Given the description of an element on the screen output the (x, y) to click on. 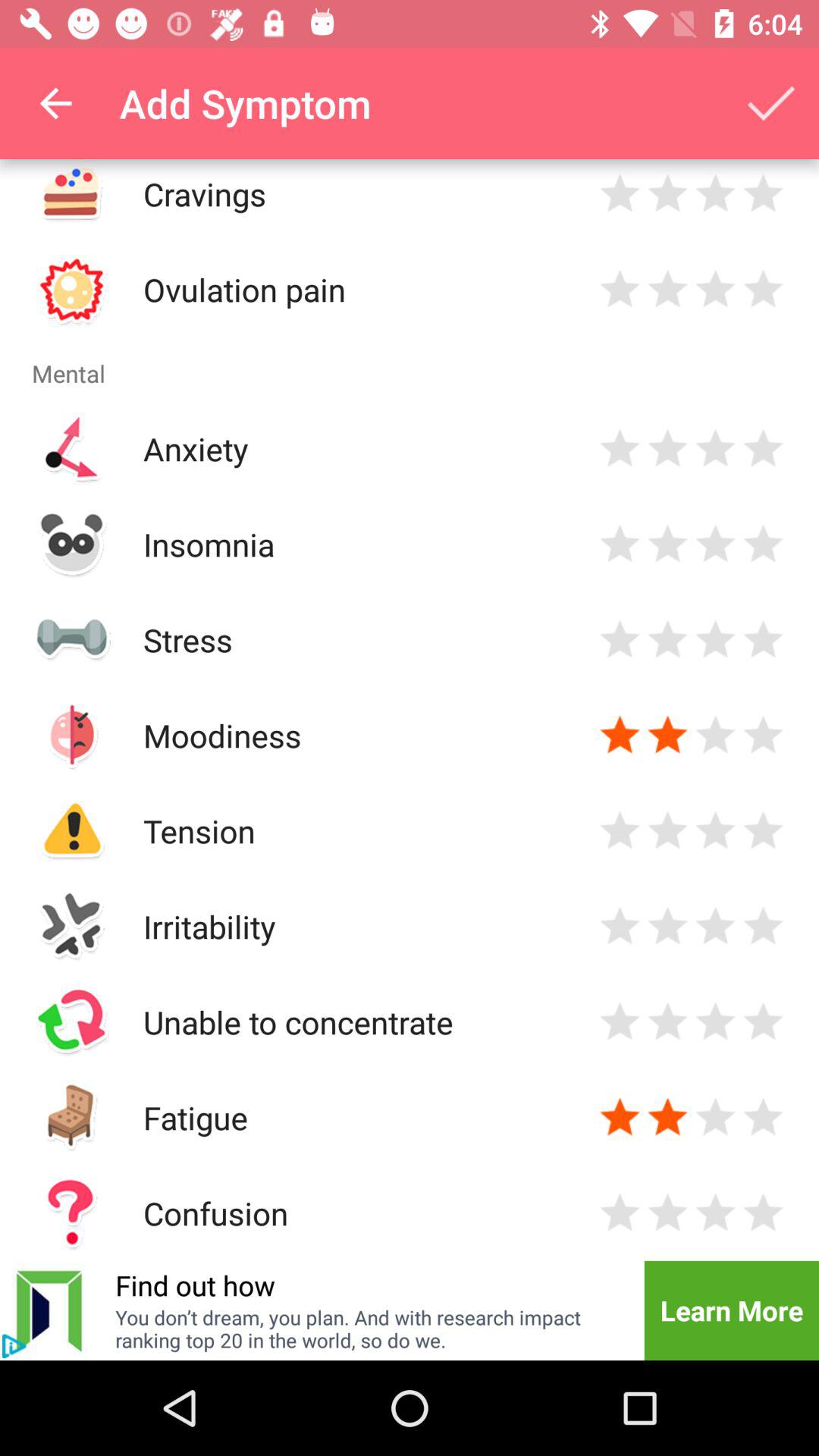
give a four star rating (763, 1213)
